Given the description of an element on the screen output the (x, y) to click on. 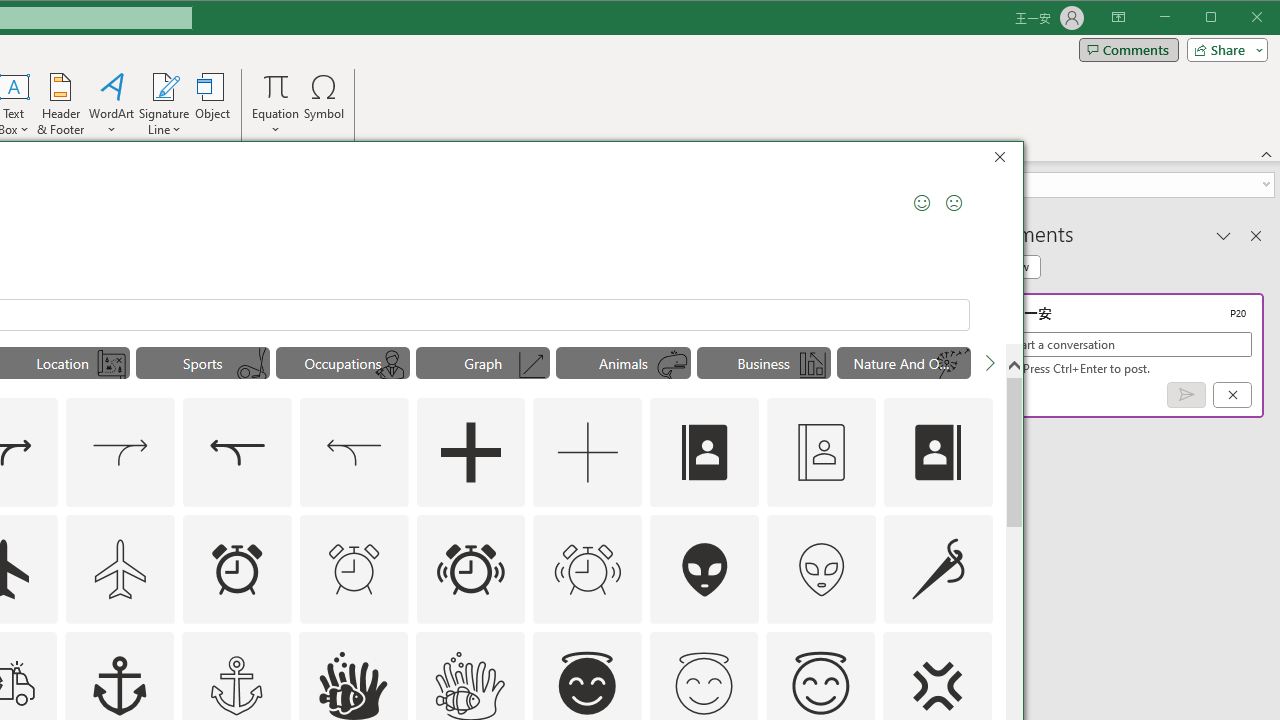
Signature Line (164, 104)
"Graph" Icons. (483, 362)
Maximize (1239, 18)
Send a Frown (954, 202)
AutomationID: Icons_AddressBook_RTL (938, 452)
"Nature And Outdoors" Icons. (904, 362)
outline (820, 686)
